Given the description of an element on the screen output the (x, y) to click on. 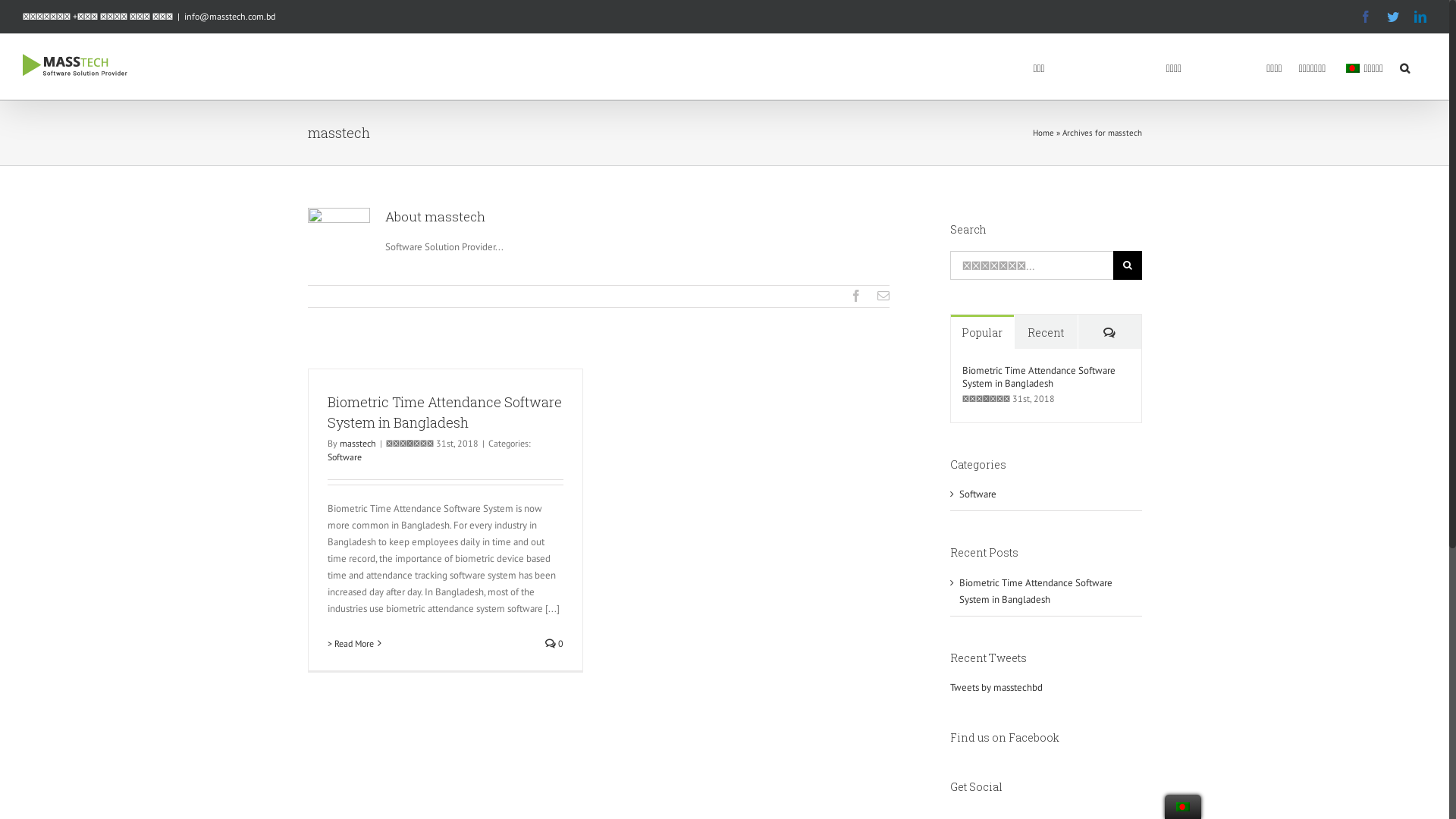
info@masstech.com.bd Element type: text (229, 15)
LinkedIn Element type: text (1420, 16)
Biometric Time Attendance Software System in Bangladesh Element type: text (1034, 590)
Software Element type: text (1045, 494)
Tweets by masstechbd Element type: text (995, 686)
Comments Element type: text (1109, 331)
> Read More Element type: text (350, 643)
Facebook Element type: text (1365, 16)
Biometric Time Attendance Software System in Bangladesh Element type: text (444, 411)
Recent Element type: text (1045, 331)
Twitter Element type: text (1392, 16)
Home Element type: text (1043, 132)
Software Element type: text (344, 456)
Search Element type: hover (1404, 66)
Email Element type: text (882, 295)
 0 Element type: text (554, 643)
Popular Element type: text (981, 331)
Biometric Time Attendance Software System in Bangladesh Element type: text (1045, 376)
Facebook Element type: text (855, 295)
masstech Element type: text (357, 442)
